Given the description of an element on the screen output the (x, y) to click on. 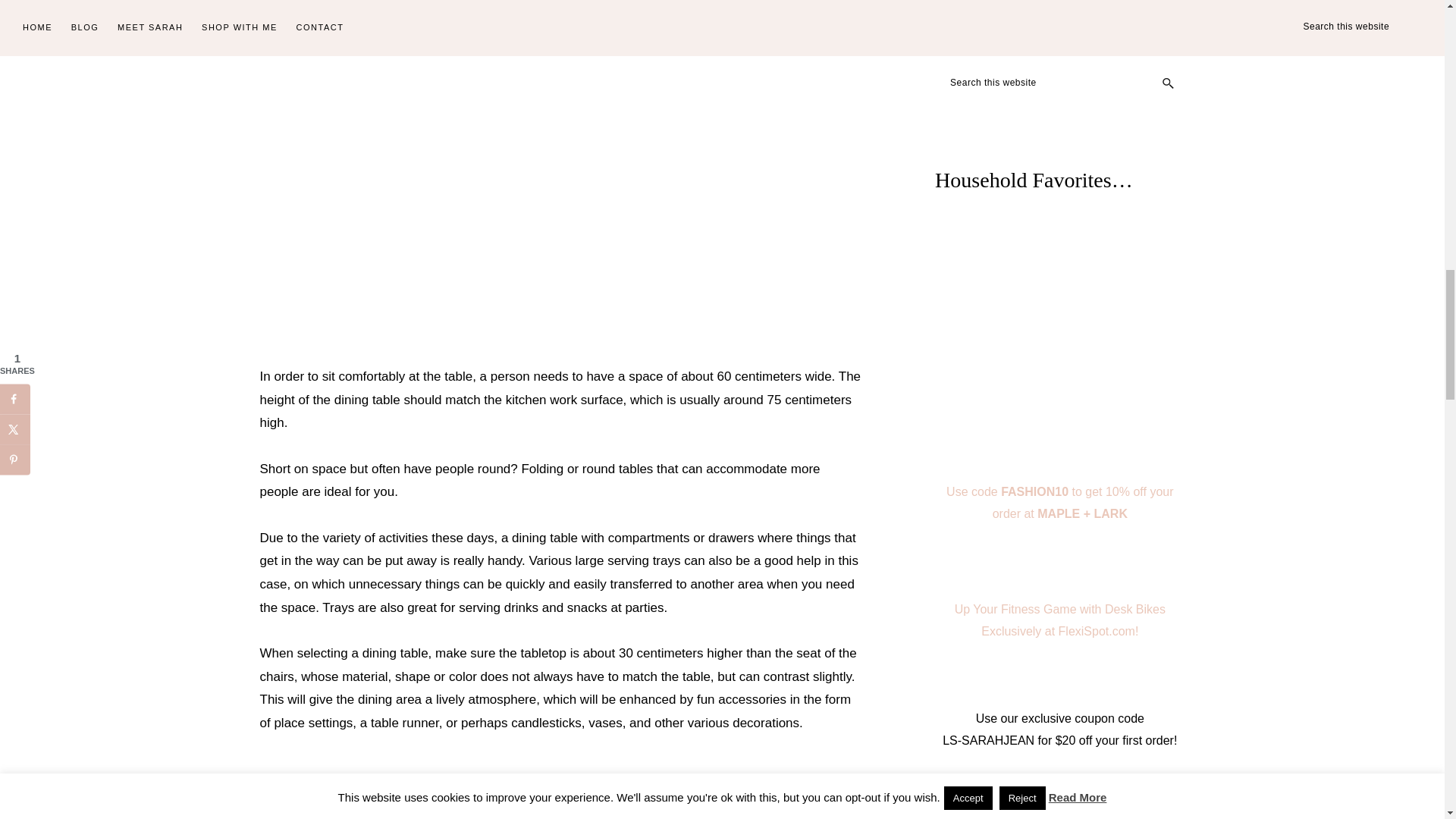
Join the Others! (1059, 6)
